Given the description of an element on the screen output the (x, y) to click on. 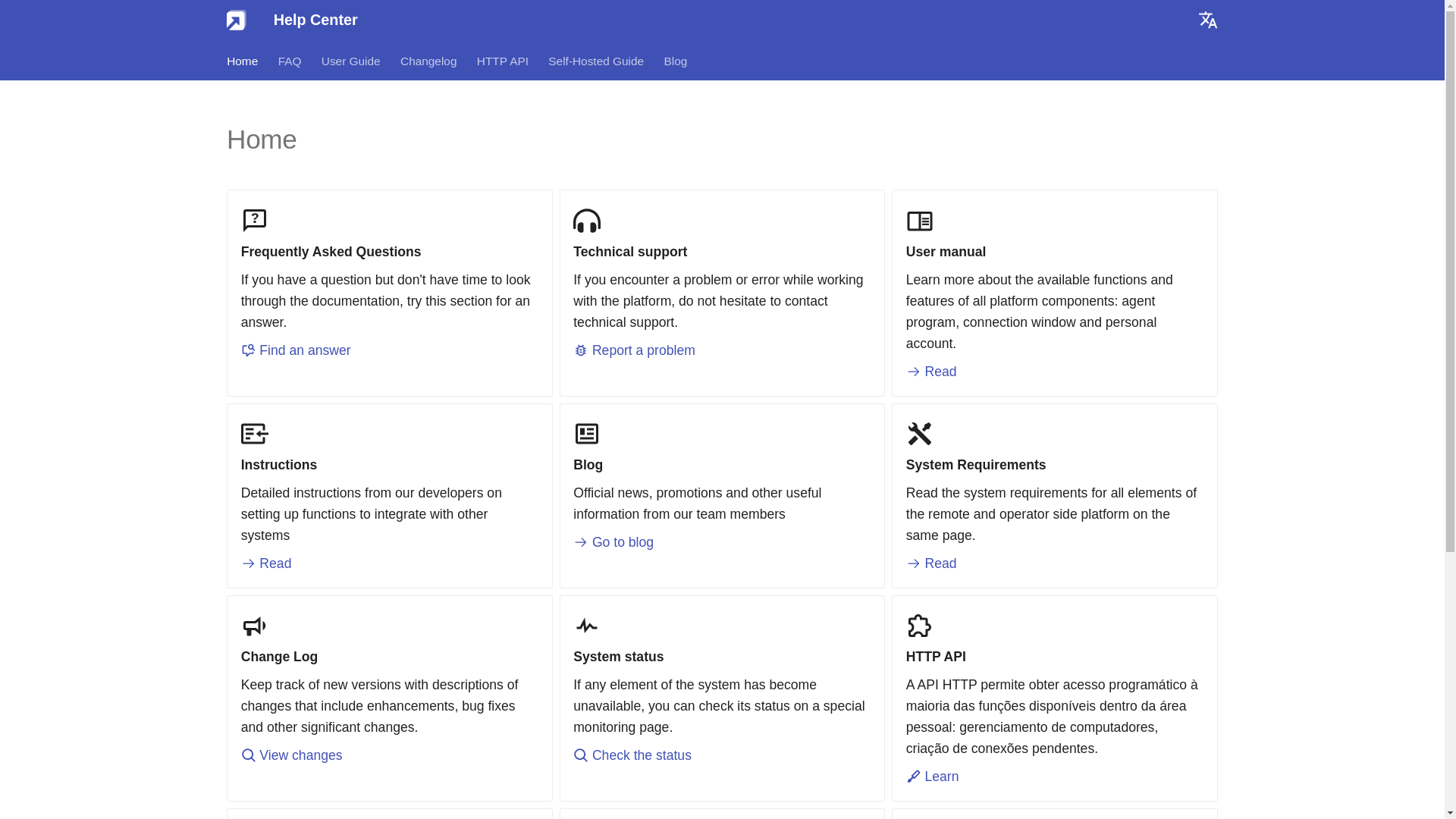
Changelog (428, 60)
Learn (932, 776)
FAQ (289, 60)
Check the status (632, 754)
Help Center (236, 19)
Self-Hosted Guide (595, 60)
Report a problem (634, 350)
Read (930, 371)
Blog (675, 60)
Find an answer (295, 350)
